Given the description of an element on the screen output the (x, y) to click on. 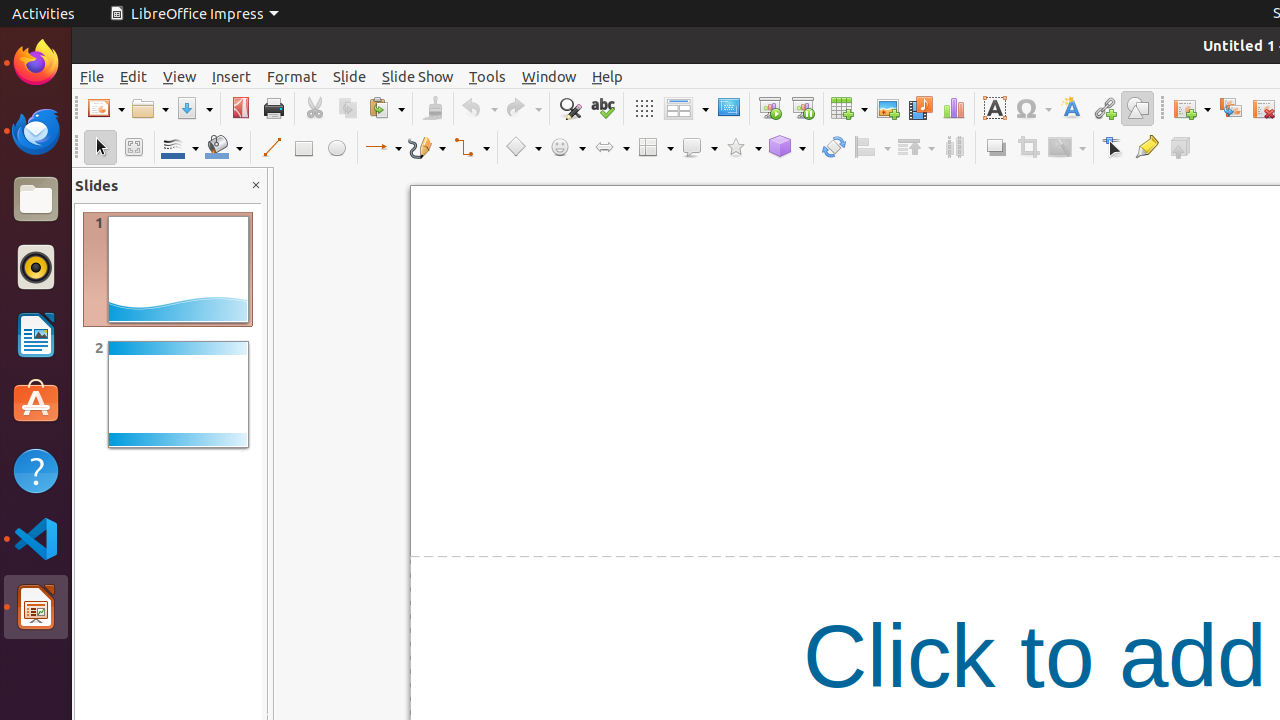
Start from Current Slide Element type: push-button (802, 108)
Hyperlink Element type: toggle-button (1104, 108)
Spelling Element type: push-button (602, 108)
File Element type: menu (92, 76)
Flowchart Shapes Element type: push-button (655, 147)
